Given the description of an element on the screen output the (x, y) to click on. 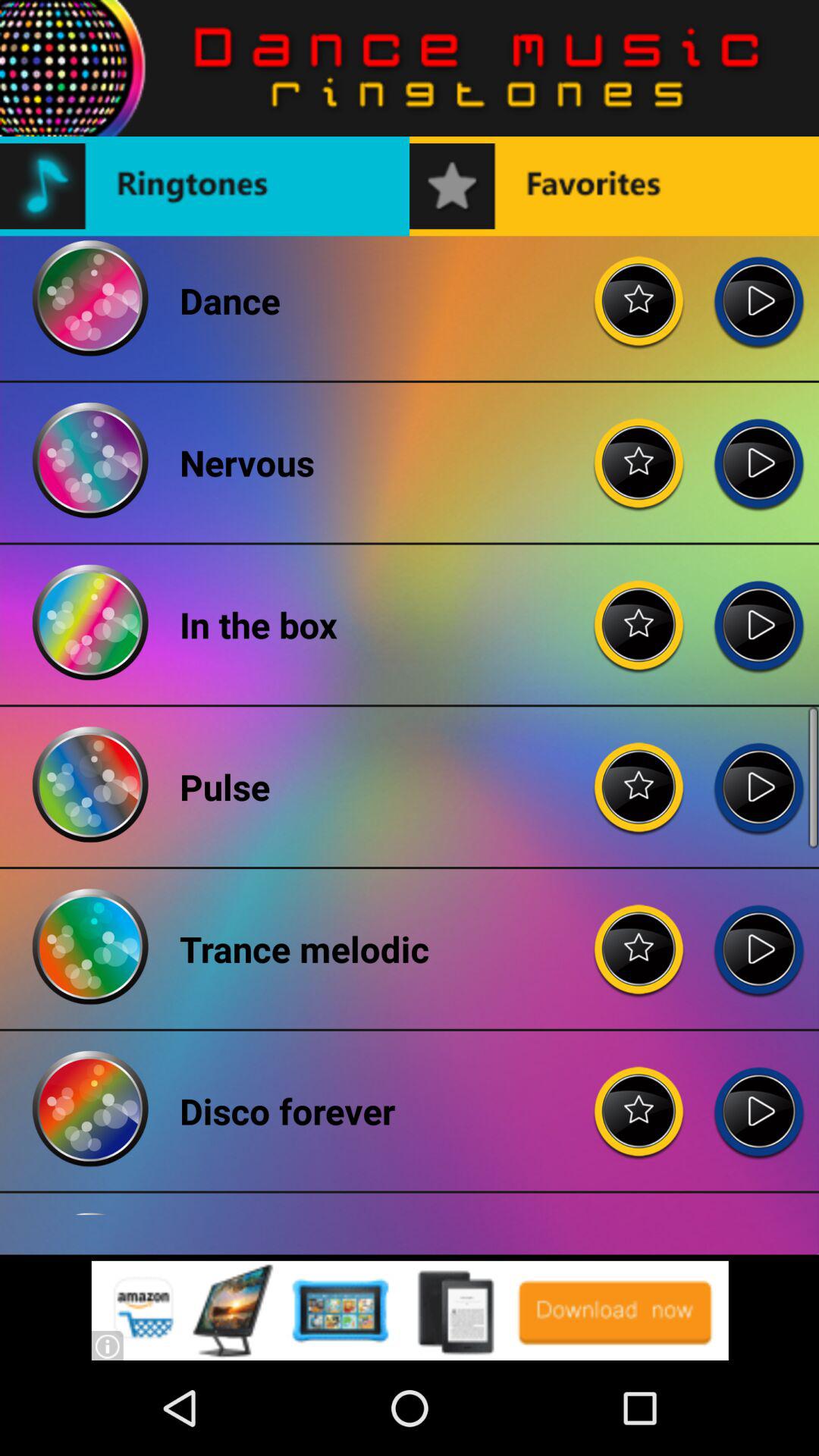
play this ringtone (758, 613)
